Given the description of an element on the screen output the (x, y) to click on. 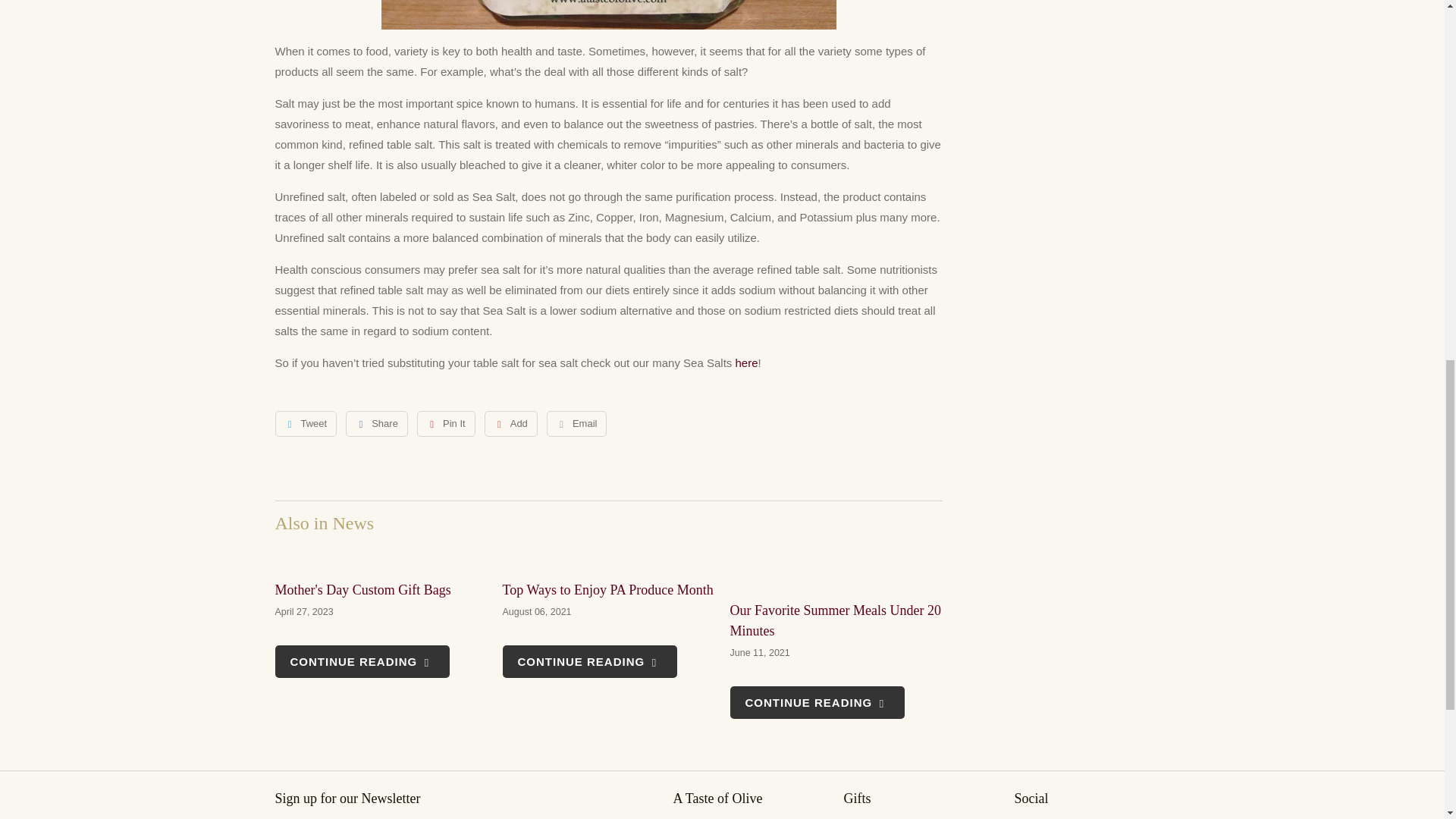
Mother's Day Custom Gift Bags (380, 557)
Mother's Day Custom Gift Bags (362, 589)
Our Favorite Summer Meals Under 20 Minutes (816, 701)
Our Favorite Summer Meals Under 20 Minutes (835, 567)
Our Favorite Summer Meals Under 20 Minutes (834, 619)
Email this to a friend (577, 423)
Mother's Day Custom Gift Bags (362, 660)
Top Ways to Enjoy PA Produce Month (607, 589)
Share this on Facebook (376, 423)
Share this on Pinterest (446, 423)
